Given the description of an element on the screen output the (x, y) to click on. 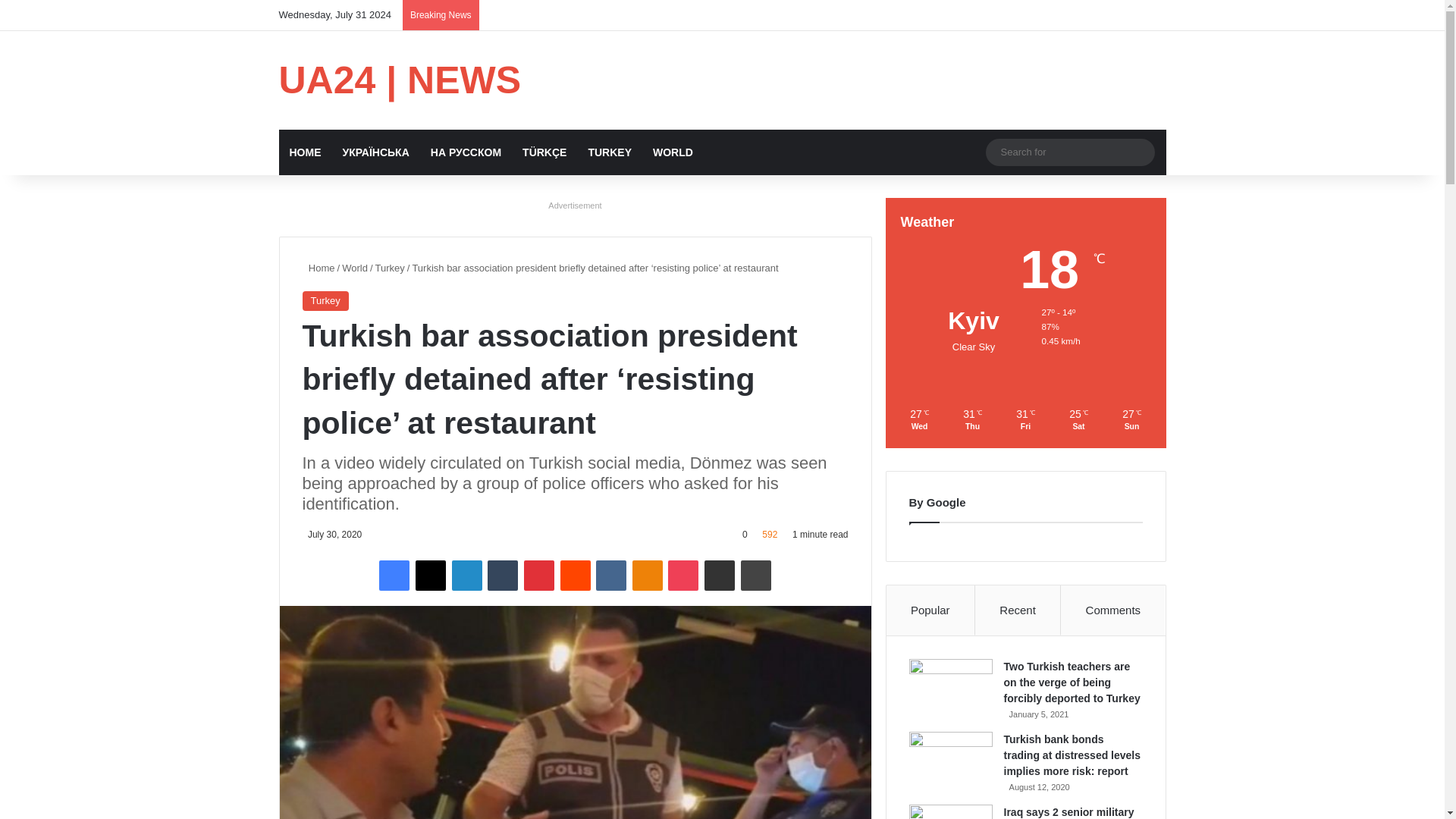
WORLD (672, 152)
Odnoklassniki (646, 575)
VKontakte (610, 575)
Reddit (574, 575)
Advertisement (575, 205)
Home (317, 267)
X (429, 575)
Facebook (393, 575)
TURKEY (609, 152)
LinkedIn (466, 575)
Search for (1069, 151)
Tumblr (502, 575)
HOME (305, 152)
World (355, 267)
Facebook (393, 575)
